Given the description of an element on the screen output the (x, y) to click on. 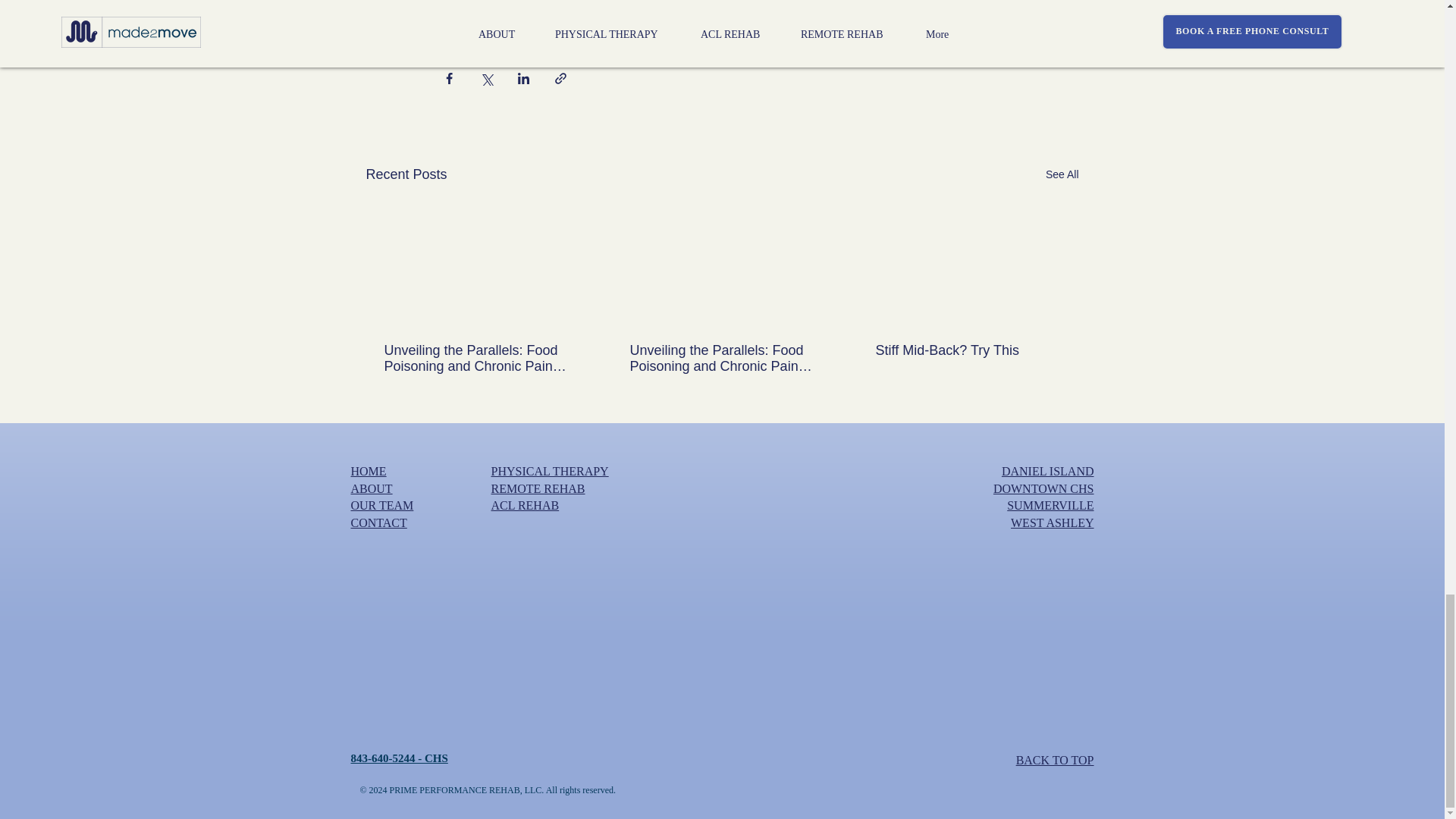
Stiff Mid-Back? Try This (966, 350)
See All (1061, 174)
ABOUT (370, 488)
HOME (367, 471)
PHYSICAL THERAPY (550, 471)
OUR TEAM (381, 504)
